Given the description of an element on the screen output the (x, y) to click on. 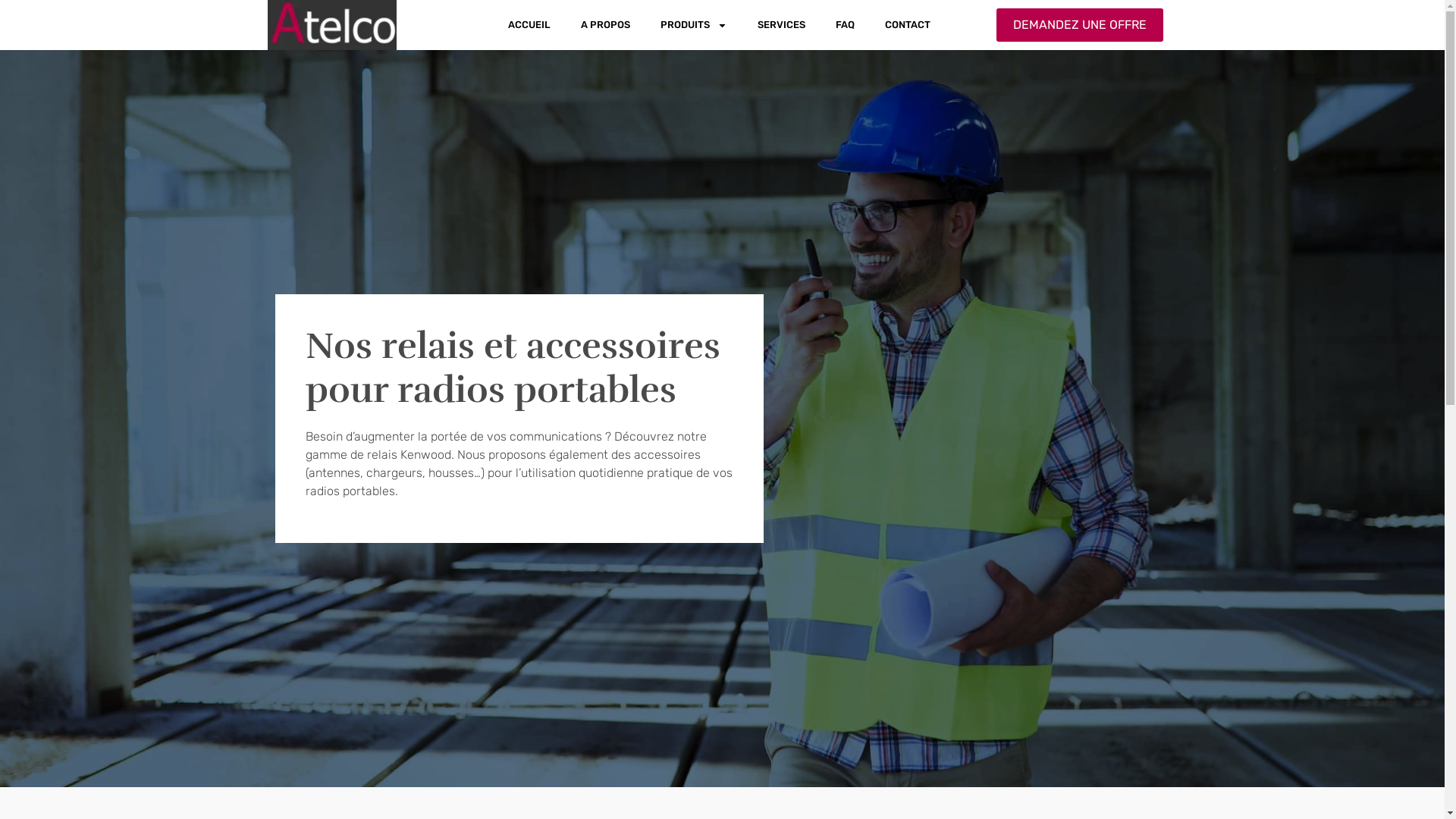
CONTACT Element type: text (907, 25)
FAQ Element type: text (844, 25)
ACCUEIL Element type: text (528, 25)
A PROPOS Element type: text (605, 25)
PRODUITS Element type: text (693, 25)
SERVICES Element type: text (781, 25)
DEMANDEZ UNE OFFRE Element type: text (1079, 24)
